Given the description of an element on the screen output the (x, y) to click on. 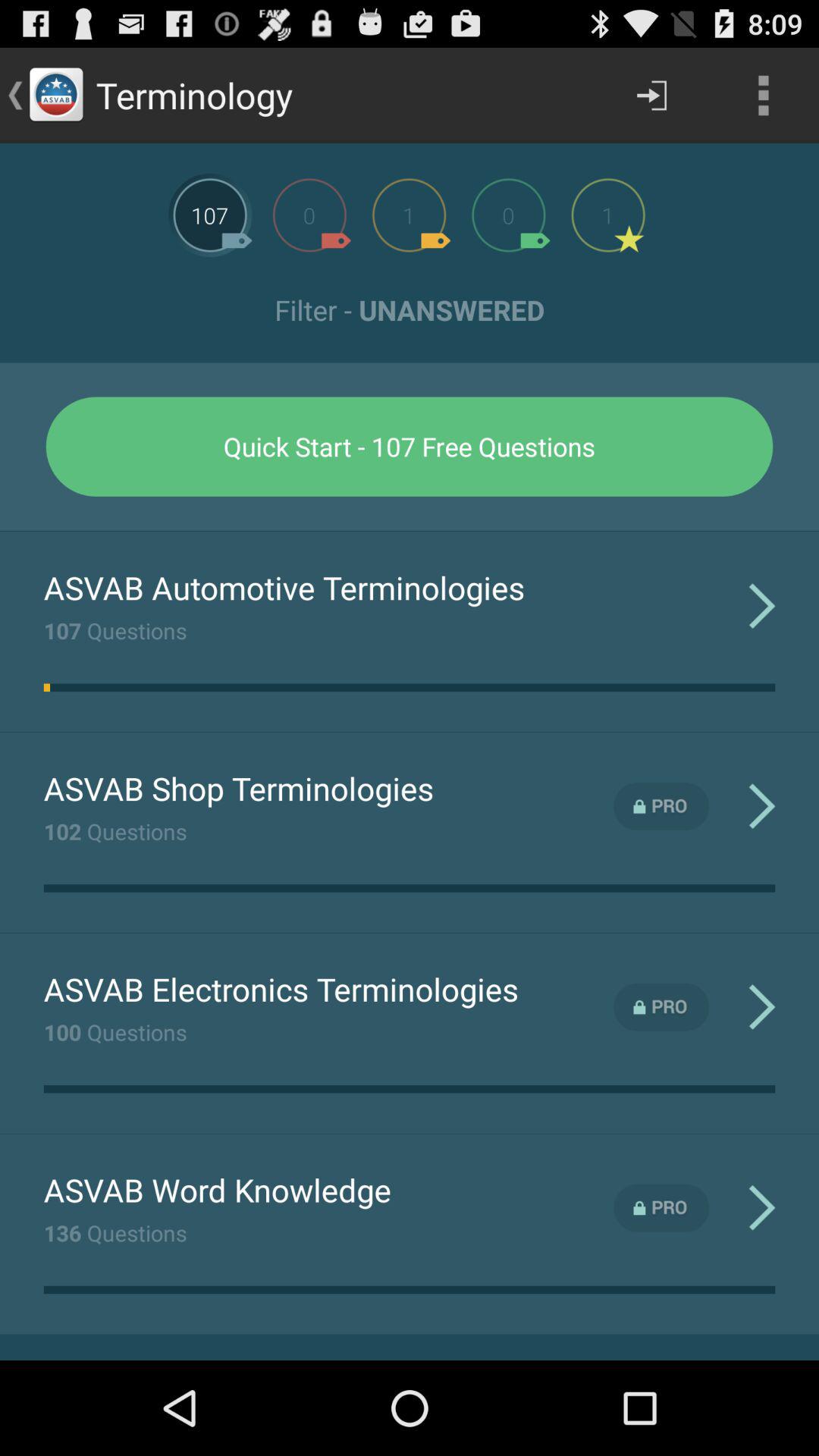
swipe until 136 questions (115, 1232)
